Given the description of an element on the screen output the (x, y) to click on. 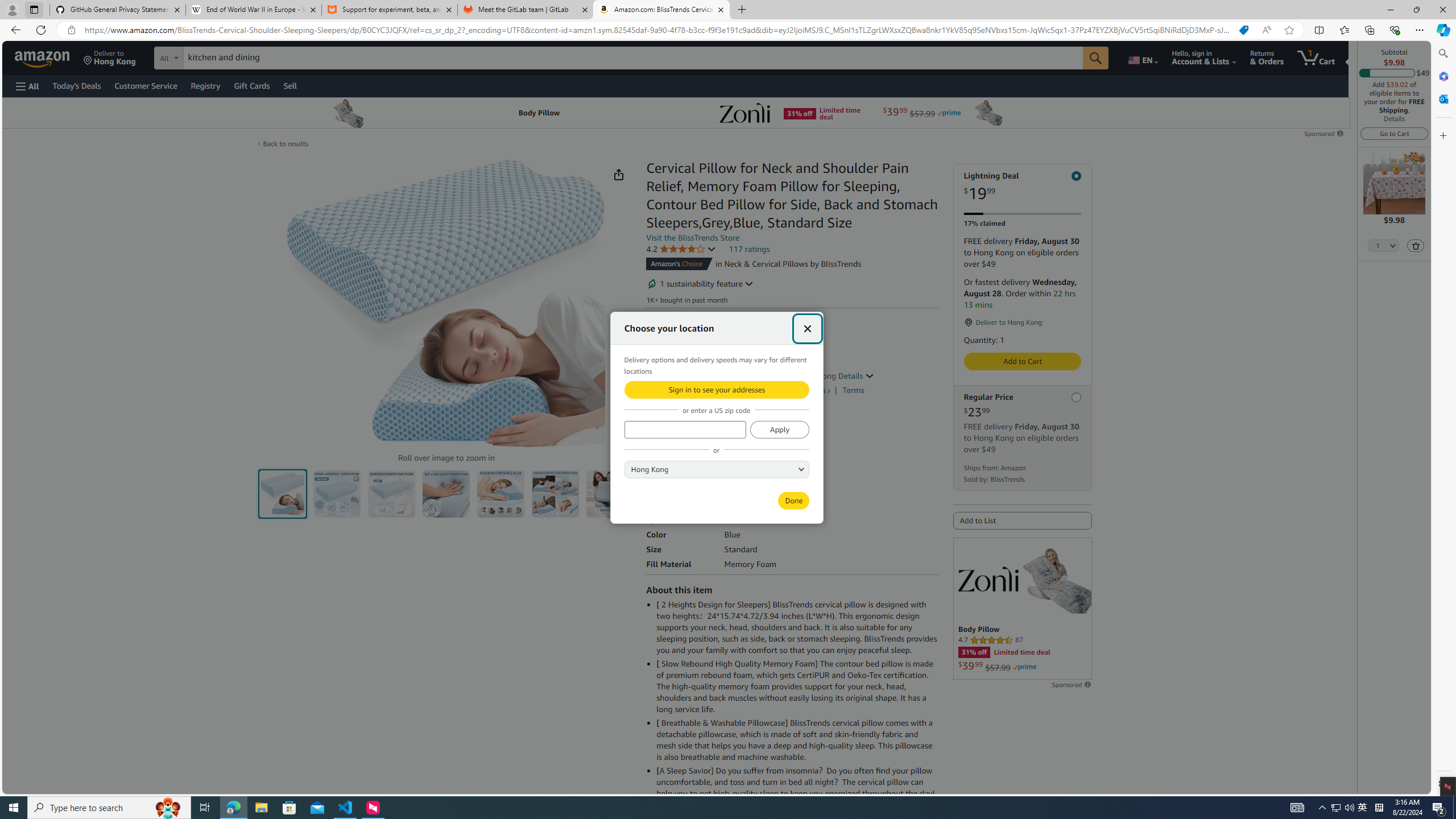
Meet the GitLab team | GitLab (525, 9)
Logo (987, 578)
Today's Deals (76, 85)
Hello, sign in Account & Lists (1203, 57)
Sustainability features (652, 283)
Terms (852, 389)
Prime (1023, 666)
